Given the description of an element on the screen output the (x, y) to click on. 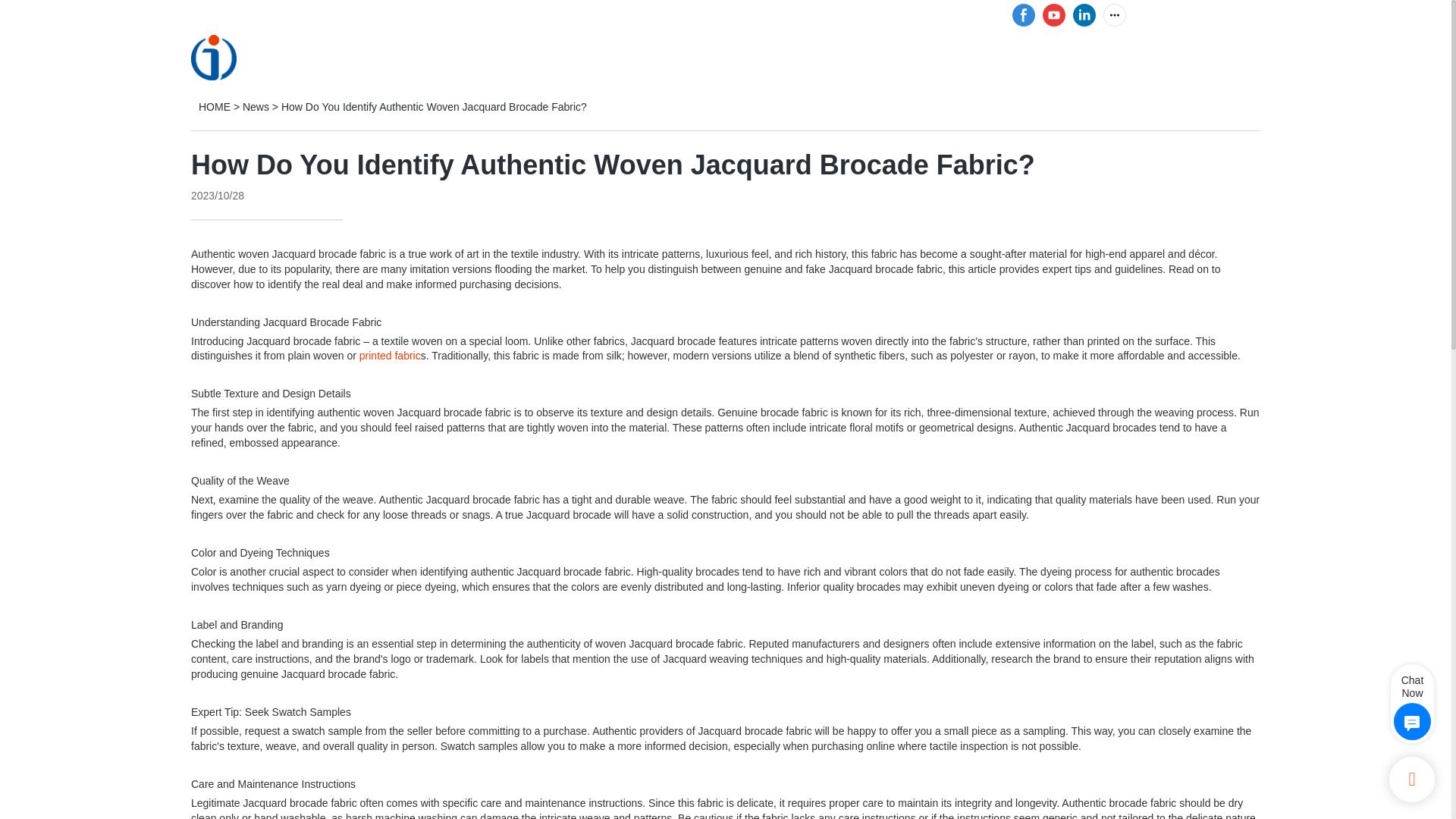
printed fabric (389, 355)
linkedin (1083, 15)
facebook (1024, 15)
youtube (1053, 15)
HOME (518, 56)
PRODUCTS (601, 56)
